Given the description of an element on the screen output the (x, y) to click on. 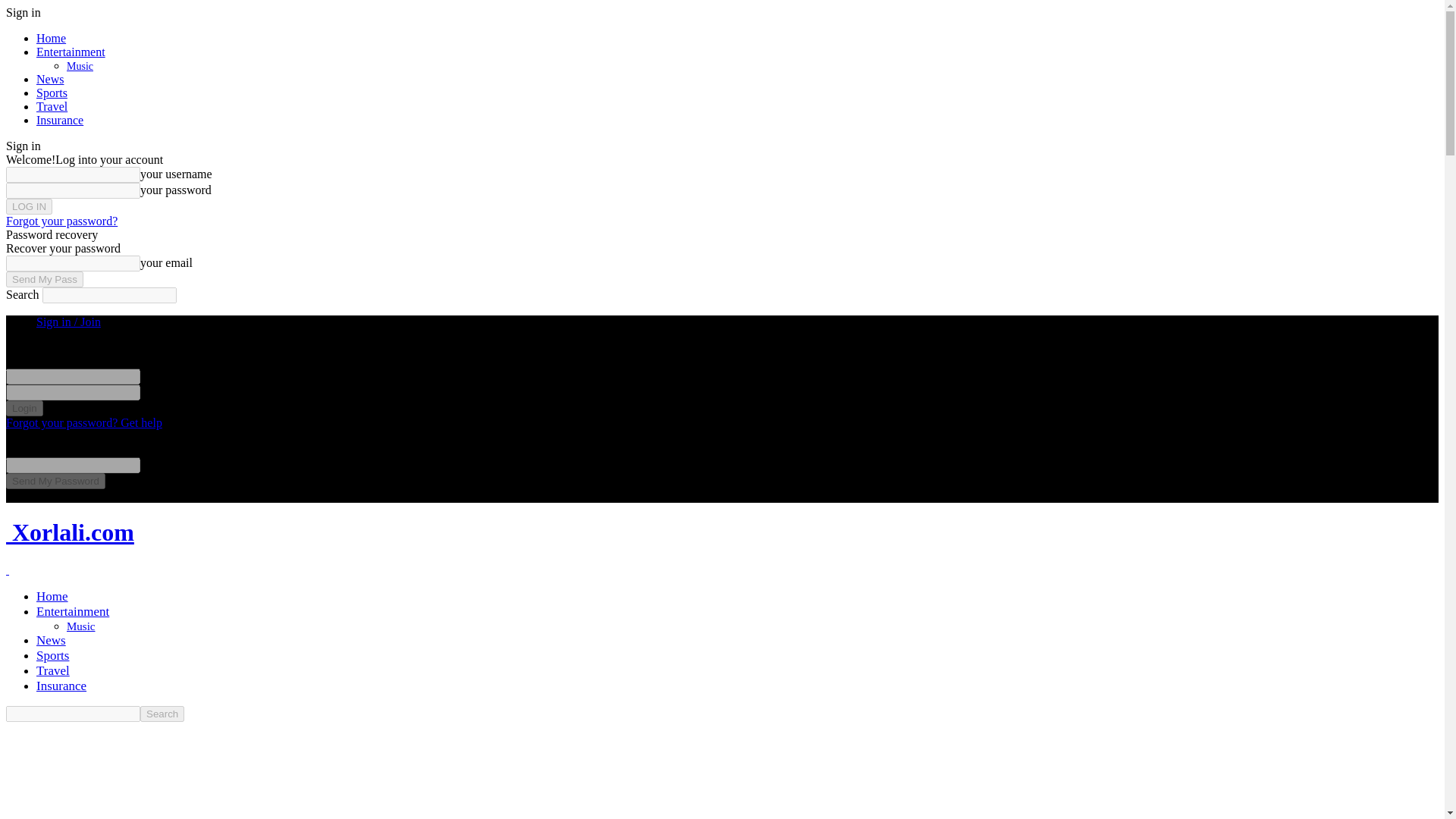
Home (52, 595)
Search (161, 713)
Send My Pass (43, 279)
Sports (52, 655)
Sign in (22, 11)
Music (79, 66)
Entertainment (72, 611)
Login (24, 408)
Travel (51, 106)
LOG IN (28, 206)
Home (50, 38)
Sports (51, 92)
Entertainment (70, 51)
News (50, 640)
Insurance (59, 119)
